Given the description of an element on the screen output the (x, y) to click on. 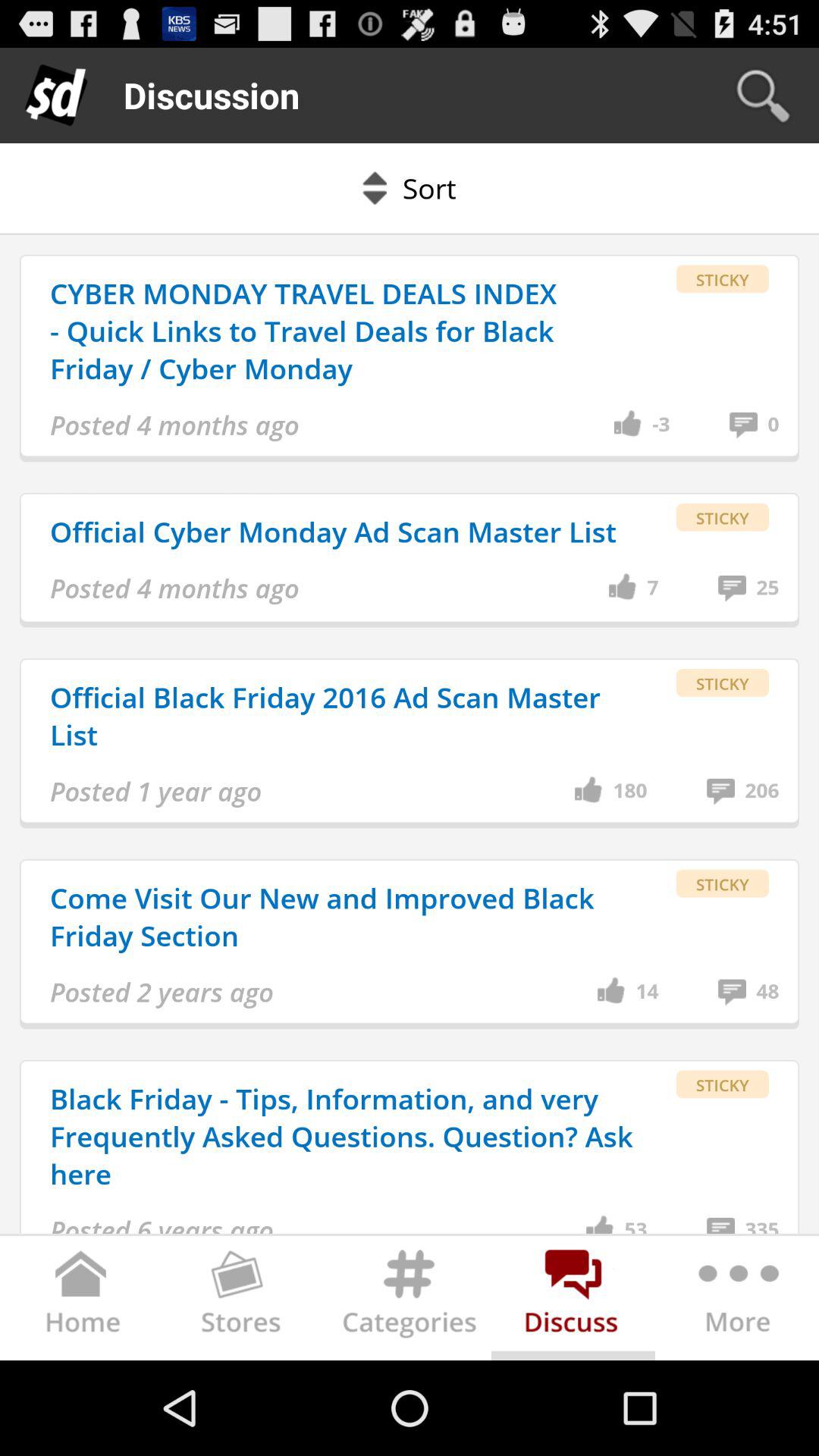
go to categories (409, 1301)
